Given the description of an element on the screen output the (x, y) to click on. 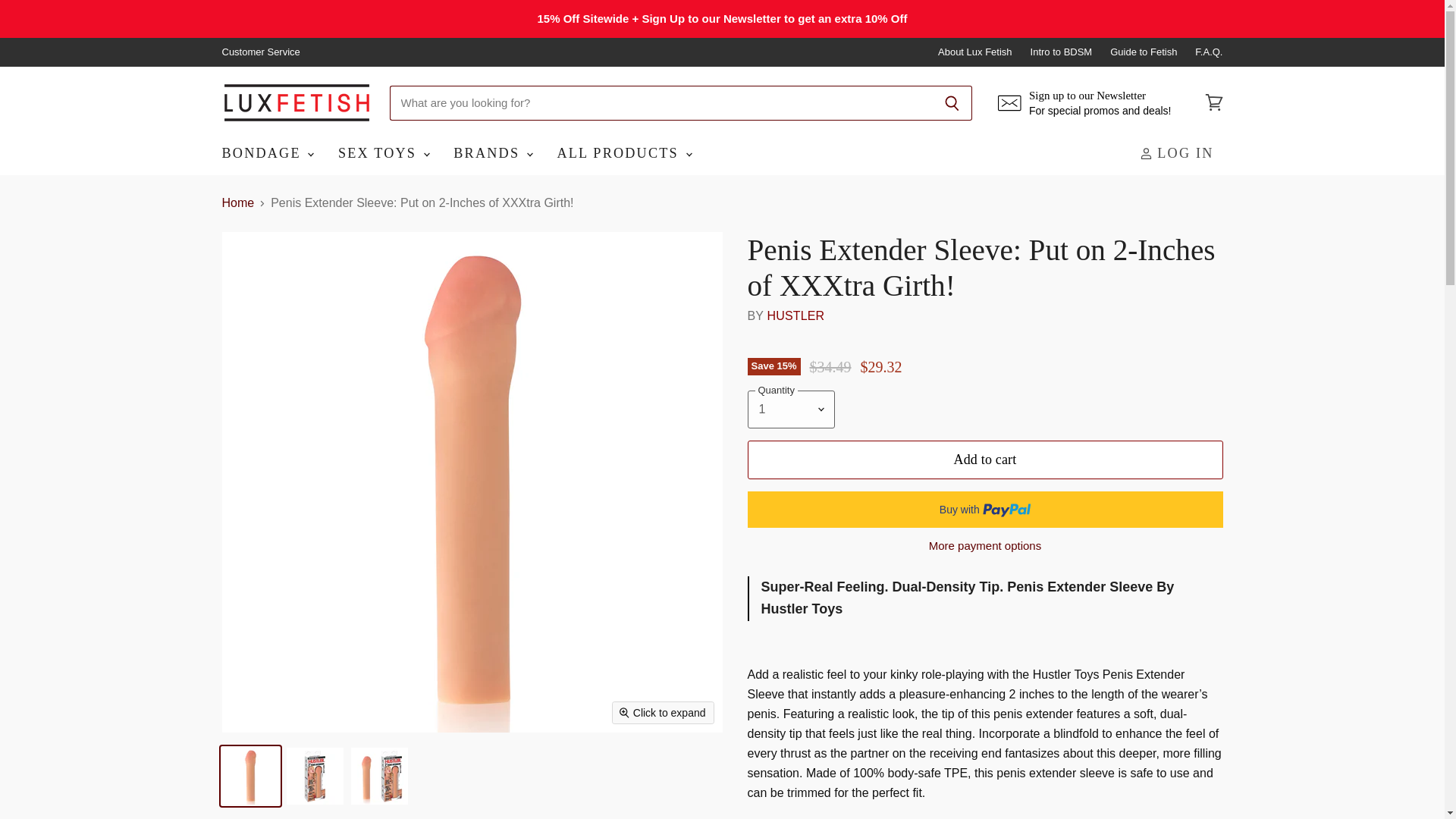
About Lux Fetish (974, 52)
Intro to BDSM (1061, 52)
SEX TOYS (382, 152)
ACCOUNT ICON (1146, 153)
View cart (1213, 102)
Customer Service (260, 52)
BONDAGE (267, 152)
F.A.Q. (1209, 52)
Guide to Fetish (1142, 52)
Envelope icon (1008, 102)
Hustler (795, 315)
